Given the description of an element on the screen output the (x, y) to click on. 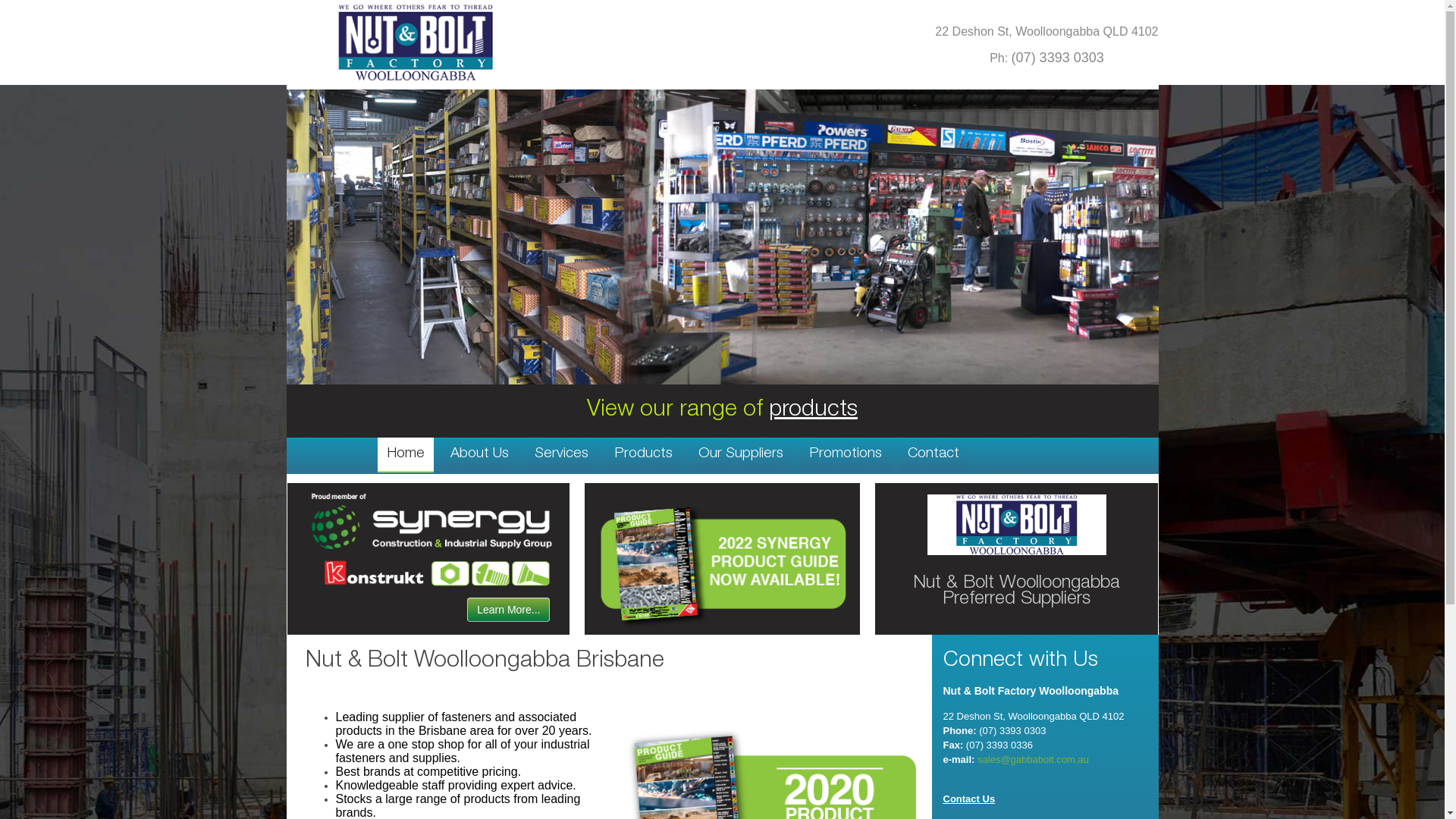
About Us Element type: text (479, 453)
sales@gabbabolt.com.au Element type: text (1032, 759)
Promotions Element type: text (844, 453)
Nut & Bolt Woolloongabba Preferred Suppliers Element type: text (1016, 591)
Contact Us Element type: text (969, 798)
Home Element type: text (405, 454)
Our Suppliers Element type: text (739, 453)
Services Element type: text (560, 453)
Products Element type: text (643, 453)
Nut & Bolt Woolloongabba Brisbane Element type: text (483, 661)
Learn More... Element type: text (507, 609)
Contact Element type: text (932, 453)
